Given the description of an element on the screen output the (x, y) to click on. 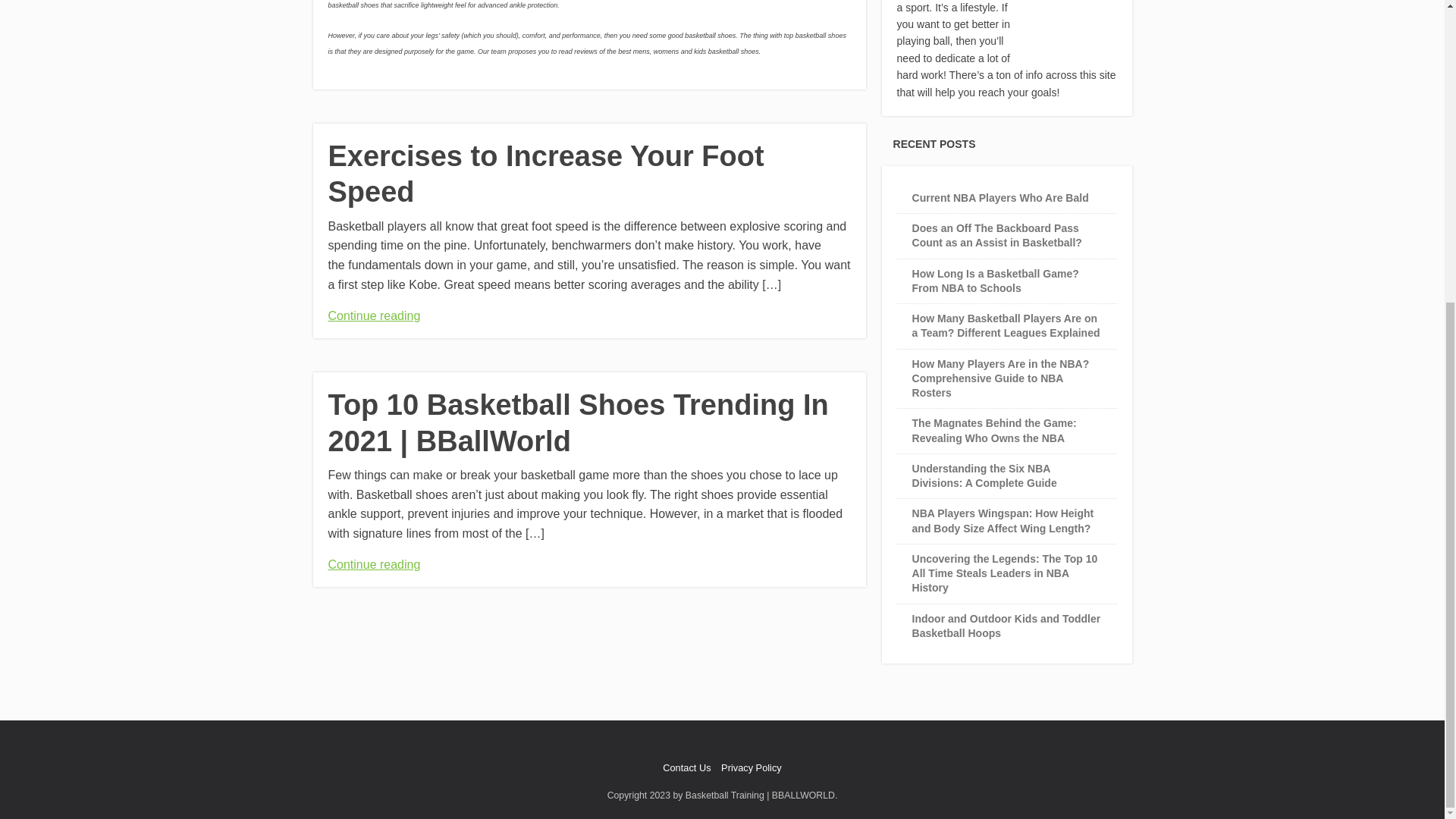
Continue reading (373, 315)
Exercises to Increase Your Foot Speed (544, 174)
